Given the description of an element on the screen output the (x, y) to click on. 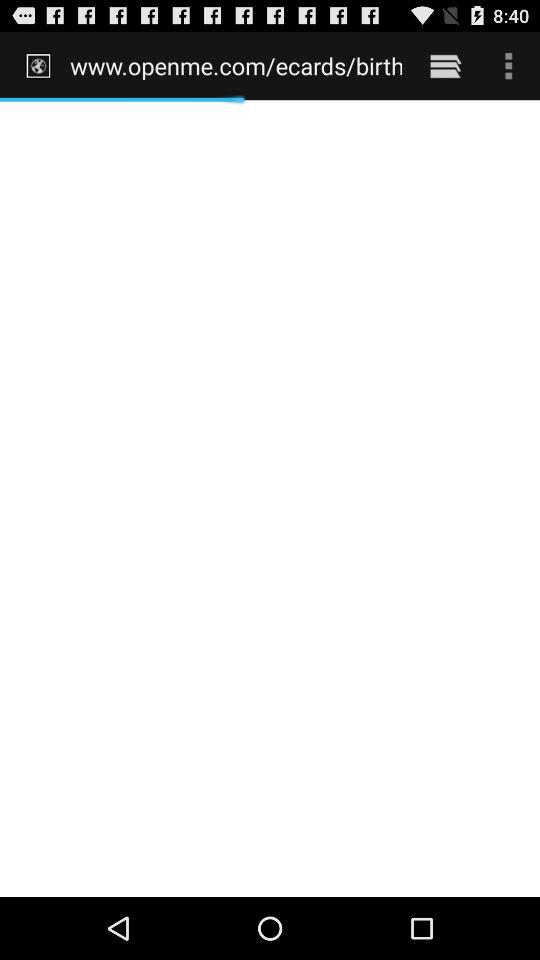
turn on item next to www openme com item (444, 65)
